Given the description of an element on the screen output the (x, y) to click on. 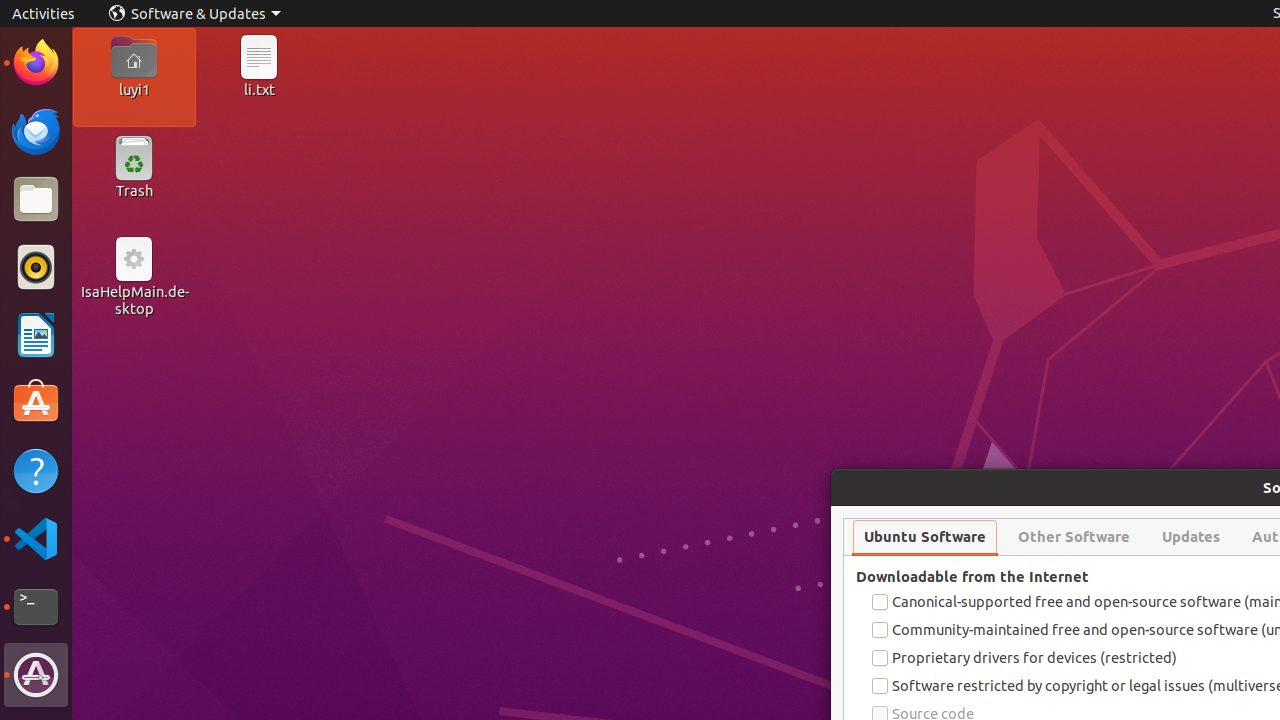
li.txt Element type: label (259, 89)
Other Software Element type: page-tab (1074, 537)
IsaHelpMain.desktop Element type: label (133, 300)
